Given the description of an element on the screen output the (x, y) to click on. 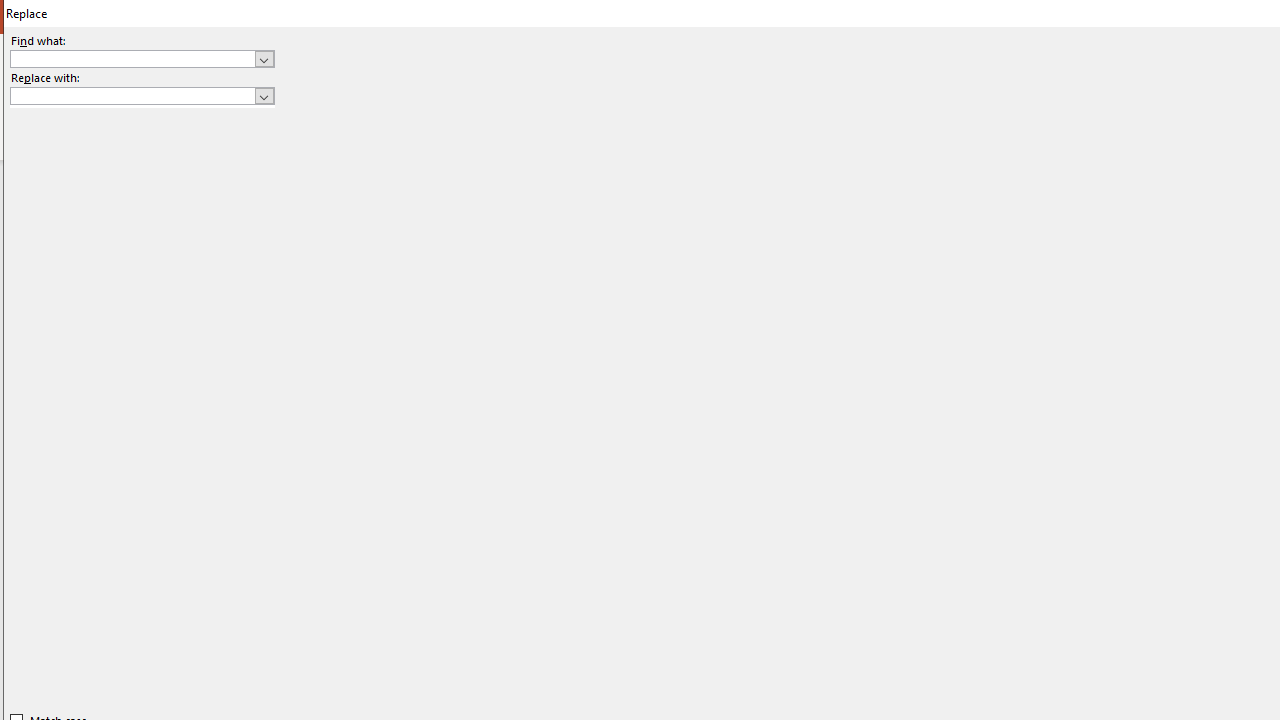
Replace with (132, 95)
Find what (142, 58)
Find what (132, 58)
Replace with (142, 96)
